Given the description of an element on the screen output the (x, y) to click on. 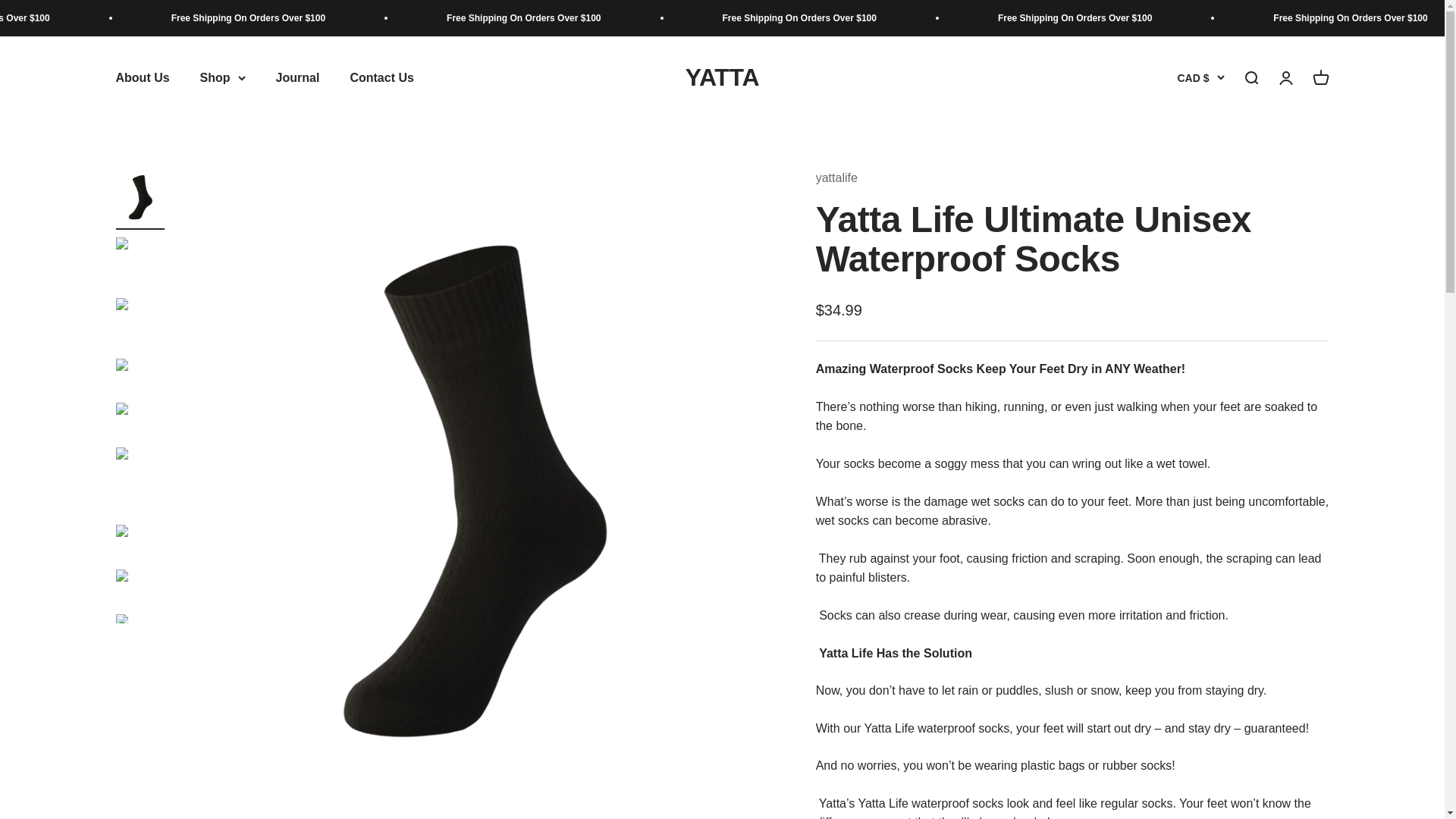
YATTA (721, 78)
Journal (298, 77)
Contact Us (381, 77)
About Us (141, 77)
